Given the description of an element on the screen output the (x, y) to click on. 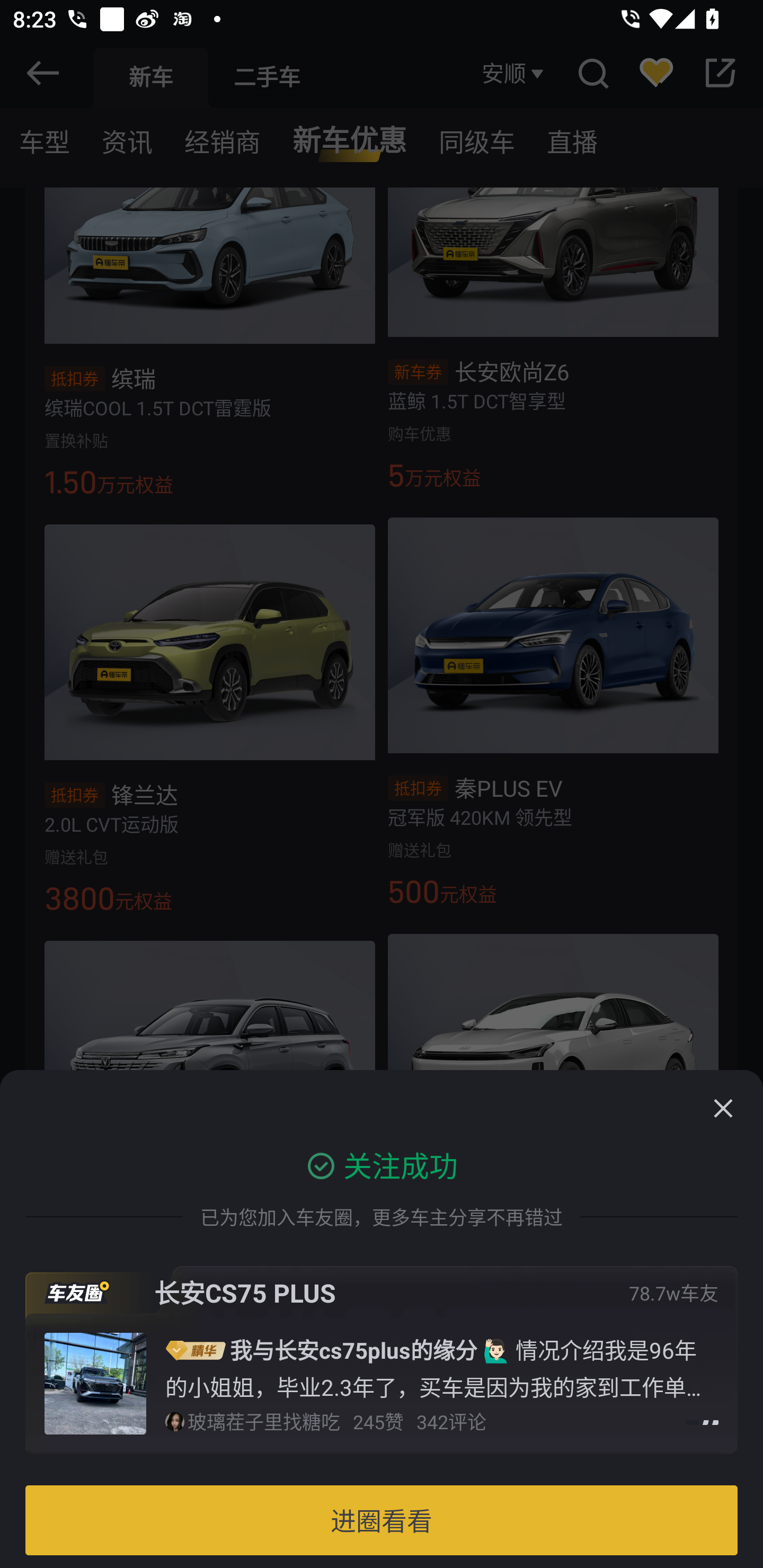
 (722, 1108)
进圈看看 (381, 1519)
